Given the description of an element on the screen output the (x, y) to click on. 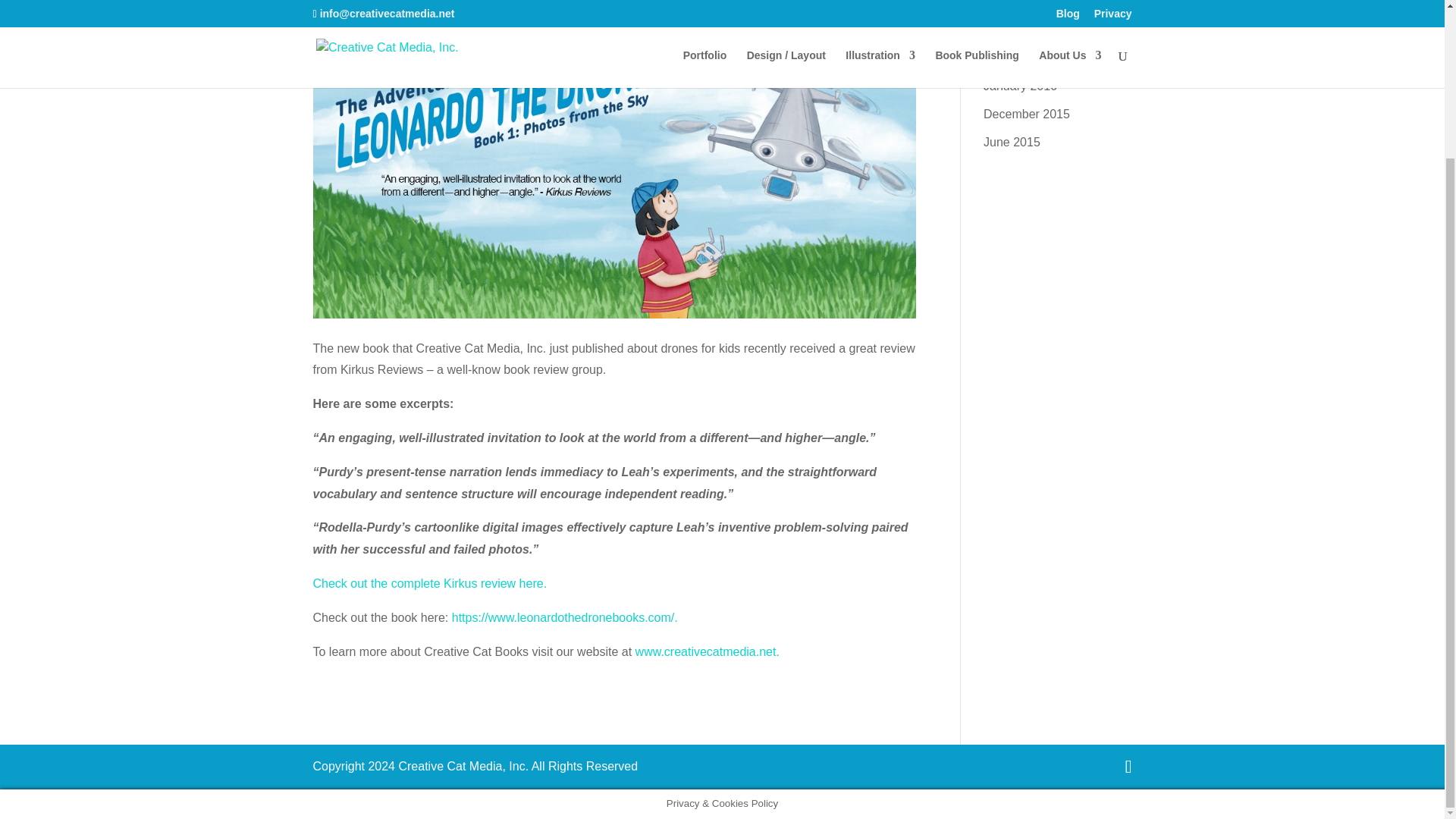
February 2020 (1023, 4)
November 2019 (1027, 57)
December 2019 (1027, 30)
June 2015 (1012, 141)
Check out the complete Kirkus review here. (430, 583)
December 2015 (1027, 113)
www.creativecatmedia.net. (706, 651)
January 2016 (1020, 85)
